Given the description of an element on the screen output the (x, y) to click on. 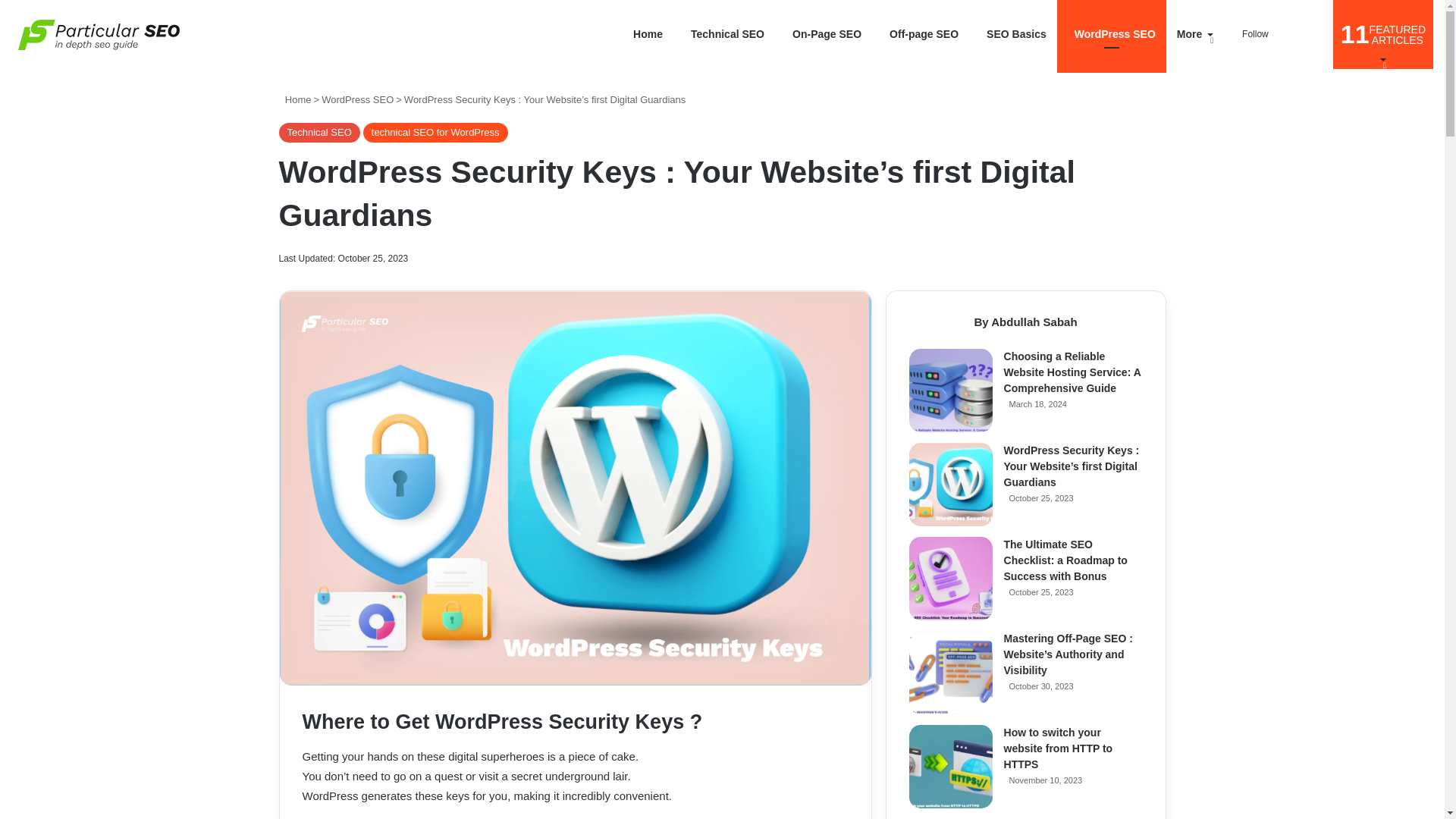
SEO Basics (1013, 34)
Particular SEO (98, 34)
WordPress SEO (1111, 34)
Technical SEO (723, 34)
Off-page SEO (920, 34)
On-Page SEO (823, 34)
